Given the description of an element on the screen output the (x, y) to click on. 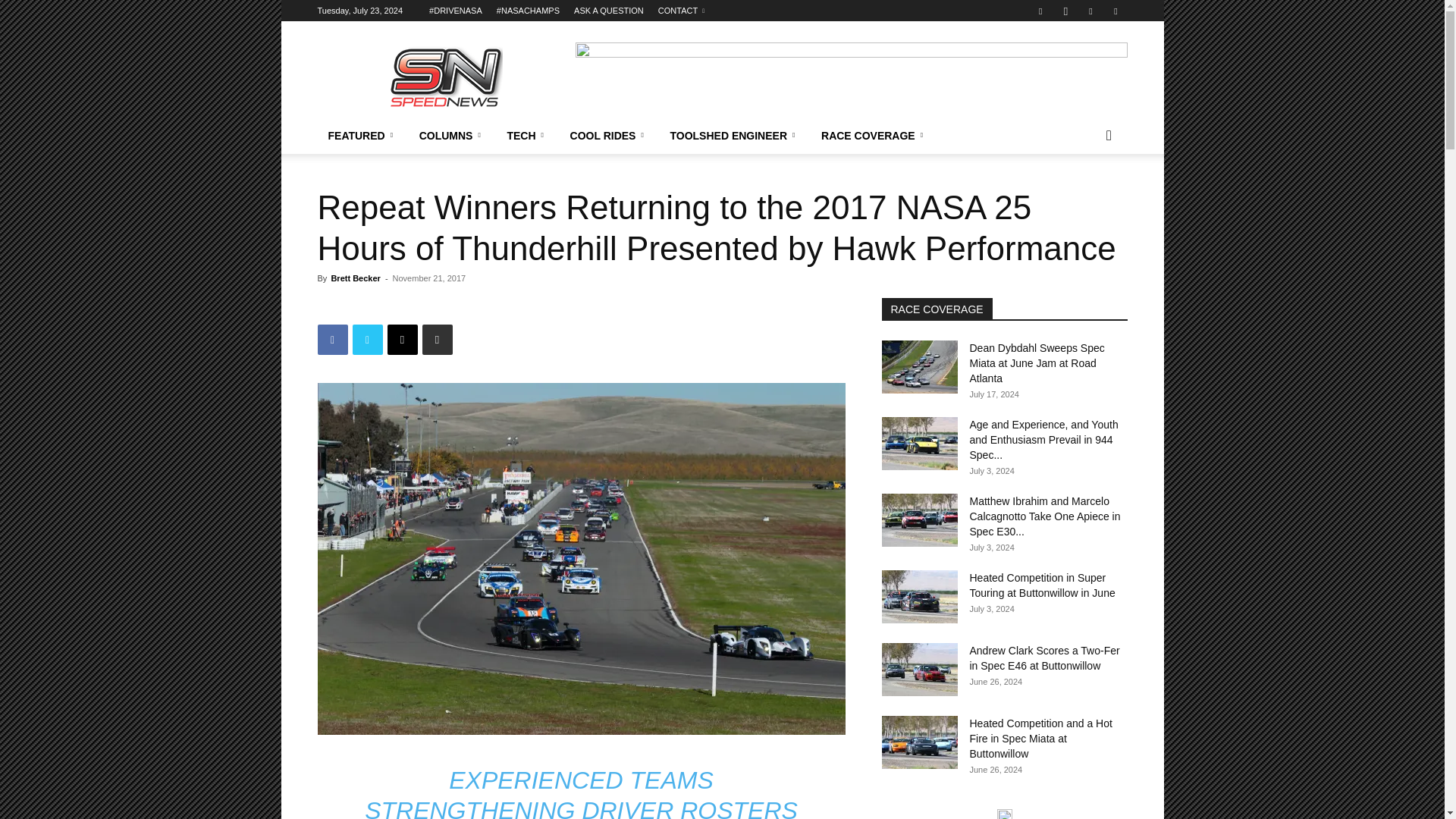
The Official Magazine of the National Auto Sport Association (445, 76)
Facebook (1040, 10)
CONTACT (681, 10)
Youtube (1114, 10)
ASK A QUESTION (608, 10)
Twitter (1090, 10)
Instagram (1065, 10)
